Given the description of an element on the screen output the (x, y) to click on. 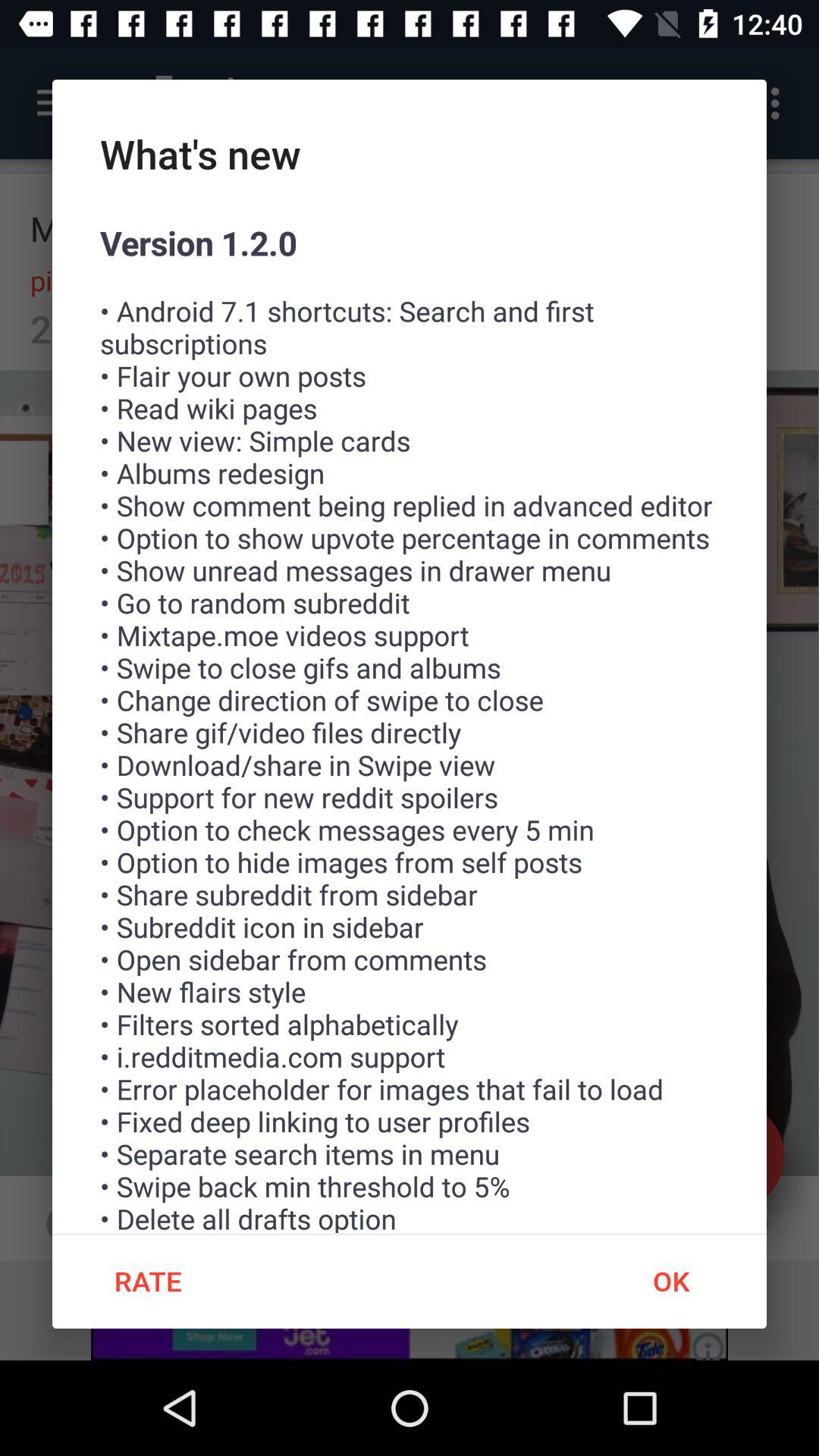
turn on the version 1 2 (409, 726)
